Given the description of an element on the screen output the (x, y) to click on. 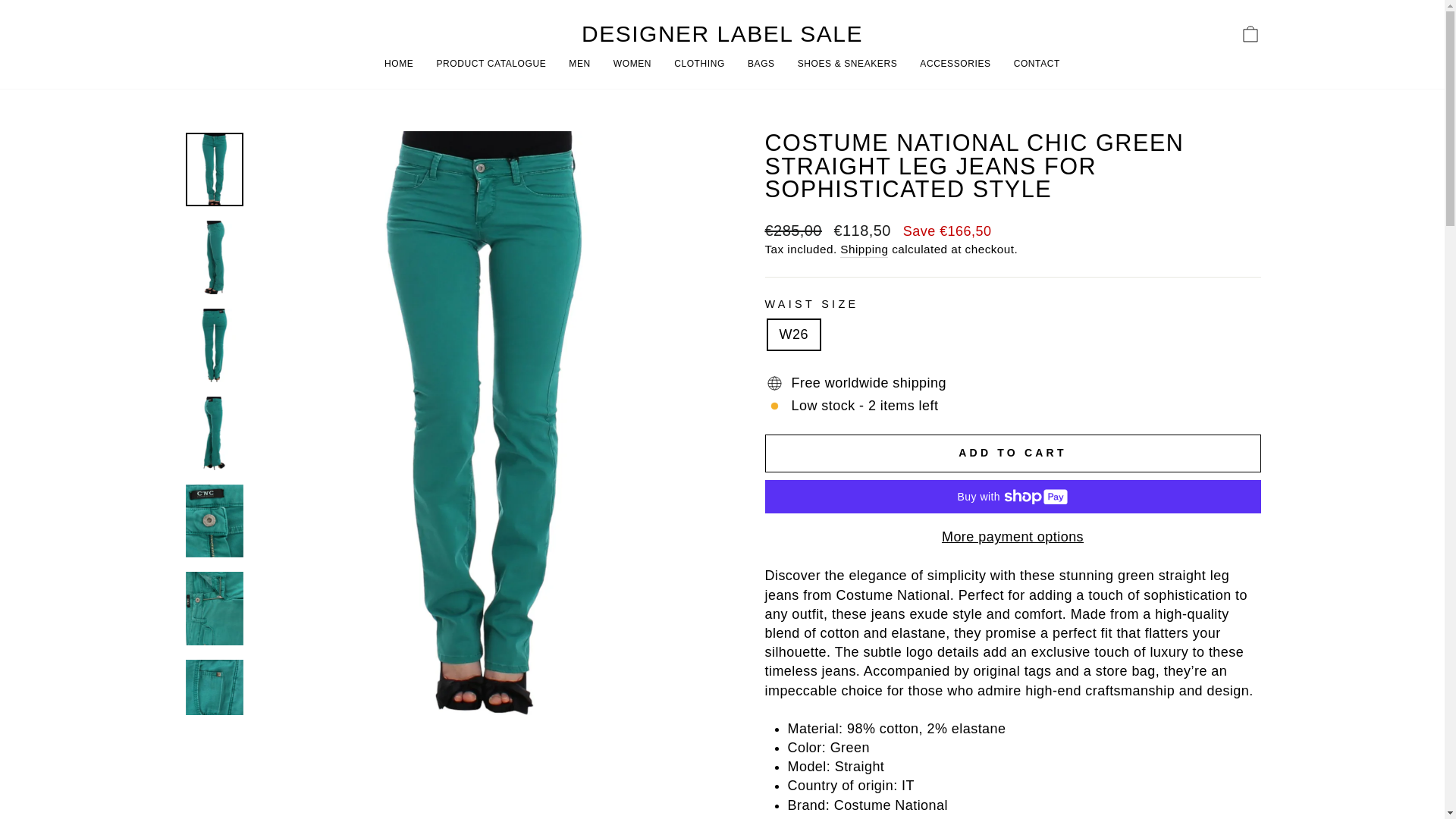
PRODUCT CATALOGUE (491, 63)
HOME (398, 63)
DESIGNER LABEL SALE (721, 33)
ACCESSORIES (954, 63)
WOMEN (632, 63)
CONTACT (1037, 63)
MEN (579, 63)
BAGS (761, 63)
ICON-BAG-MINIMAL (1249, 34)
CLOTHING (1249, 34)
